Given the description of an element on the screen output the (x, y) to click on. 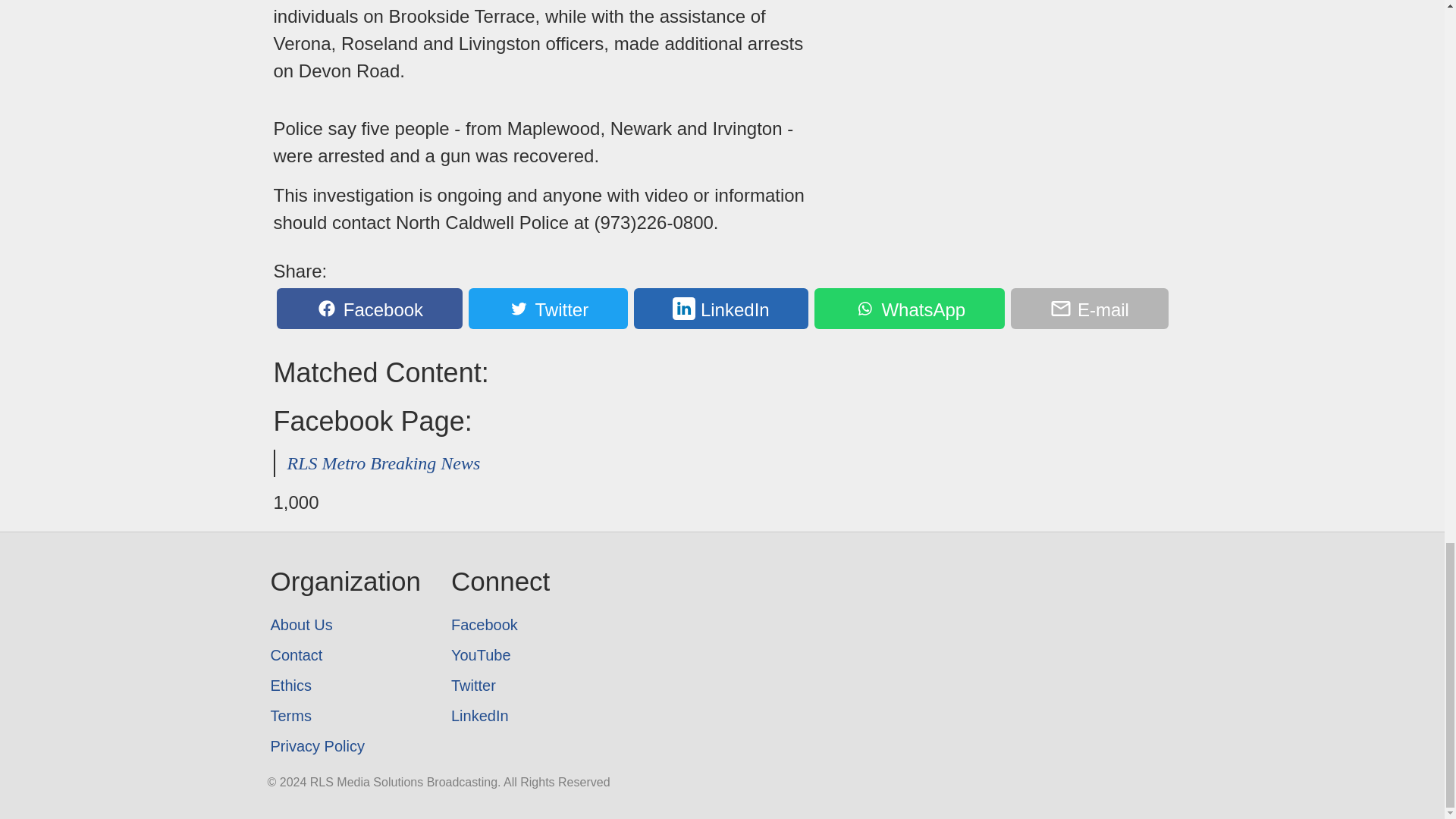
Twitter Account (500, 685)
WhatsApp (908, 308)
E-mail (1089, 308)
Contact (344, 654)
Twitter (500, 685)
View our latest videos (500, 654)
Facebook (500, 624)
Facebook (368, 308)
RLS Metro Breaking News (383, 463)
Facebook Page (500, 624)
About Us (344, 624)
Ethics Code (344, 685)
LinkedIn (721, 308)
Privacy Policy (344, 746)
Contact Us (344, 654)
